Given the description of an element on the screen output the (x, y) to click on. 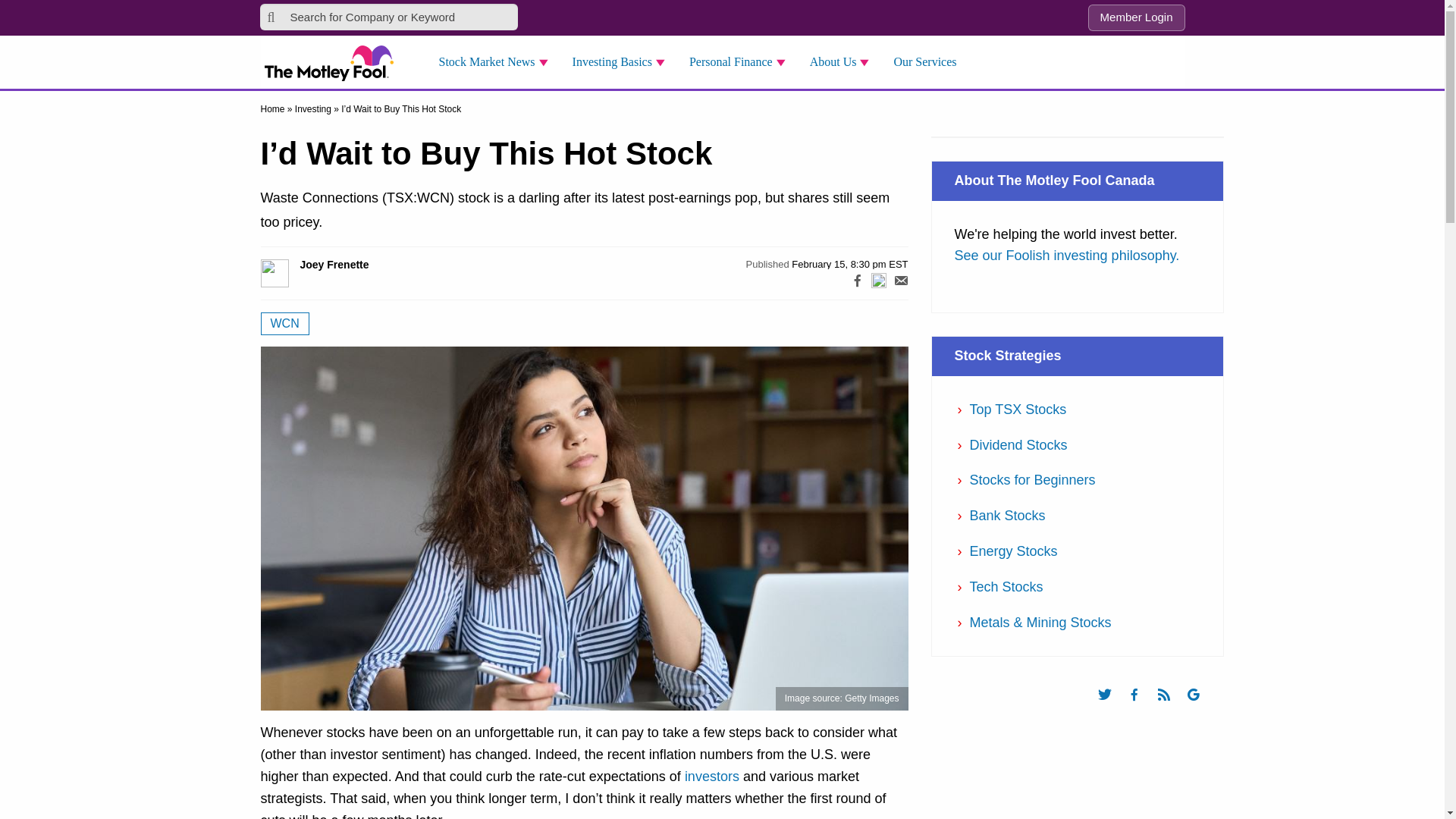
Stock Market News (497, 62)
Like us on Facebook (1141, 707)
See more articles about WCN (284, 323)
Subscribe to our feed (1171, 707)
Investing Basics (623, 62)
Member Login (1136, 17)
Follow us on Twitter (1111, 707)
